Given the description of an element on the screen output the (x, y) to click on. 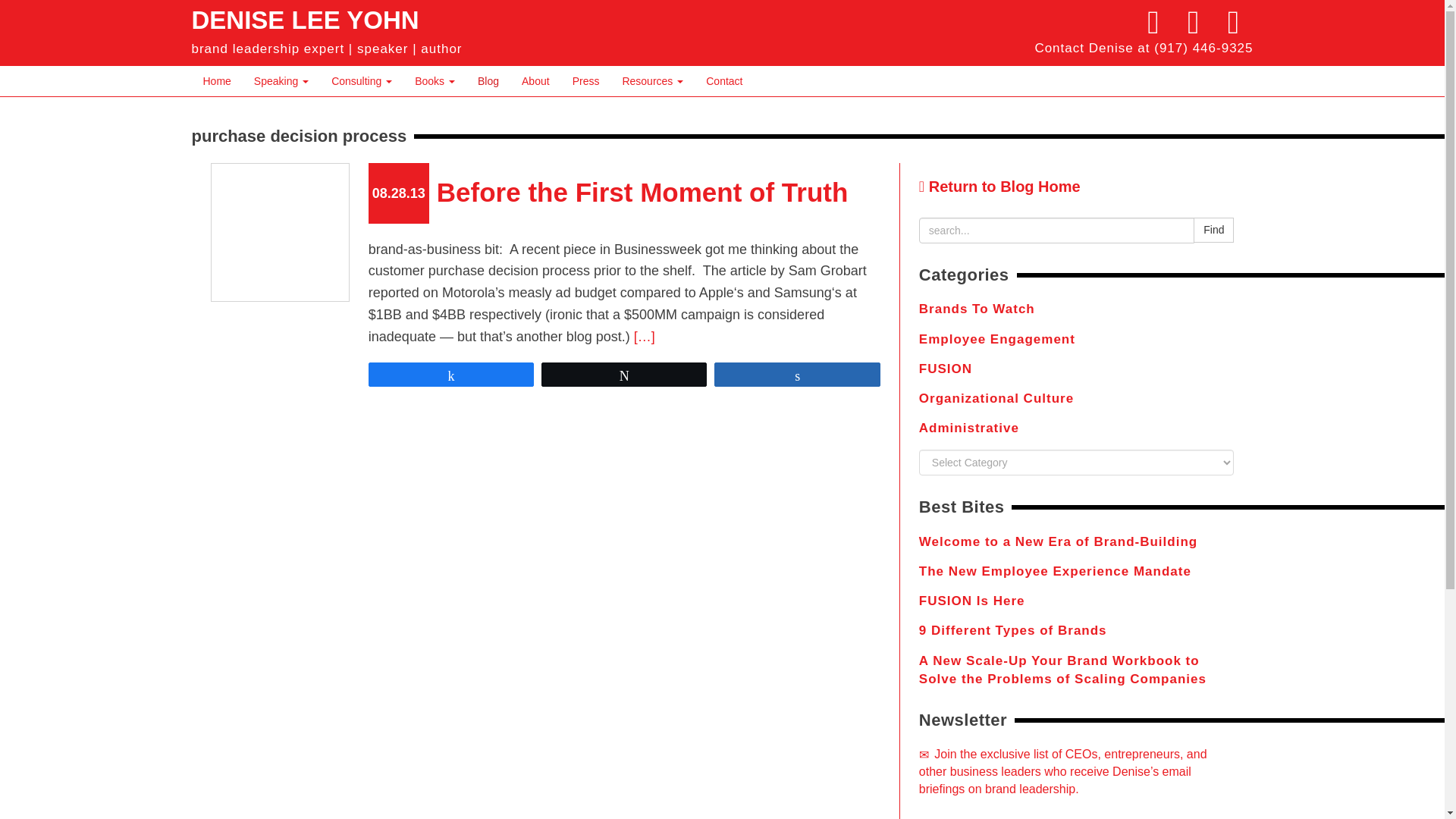
Books (434, 81)
Consulting (361, 81)
Home (215, 81)
Before the First Moment of Truth (642, 192)
Press (585, 81)
Speaking (281, 81)
Resources (652, 81)
DENISE LEE YOHN (304, 19)
About (535, 81)
Contact (724, 81)
Blog (488, 81)
